Given the description of an element on the screen output the (x, y) to click on. 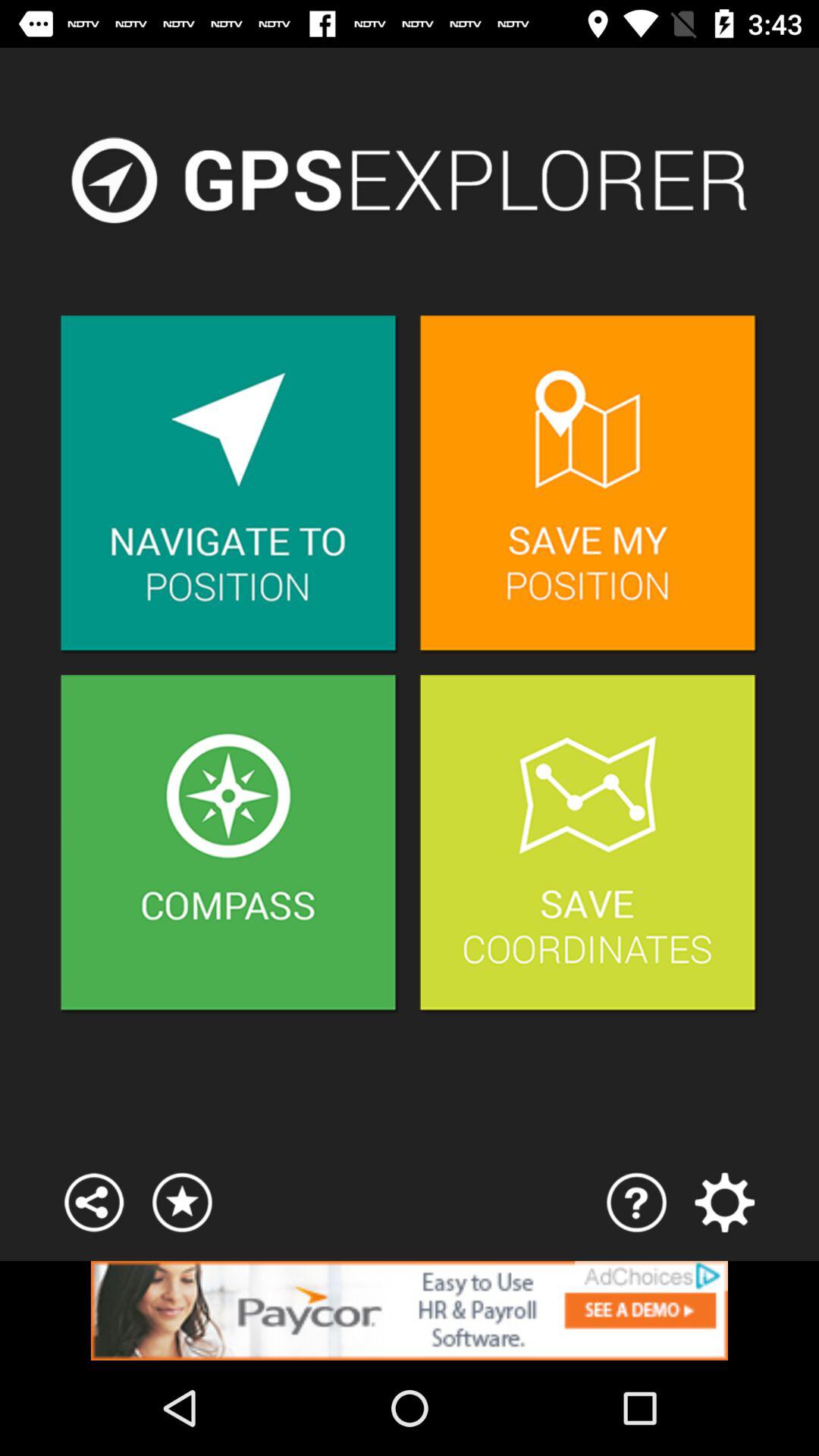
open save coordinates (588, 844)
